Given the description of an element on the screen output the (x, y) to click on. 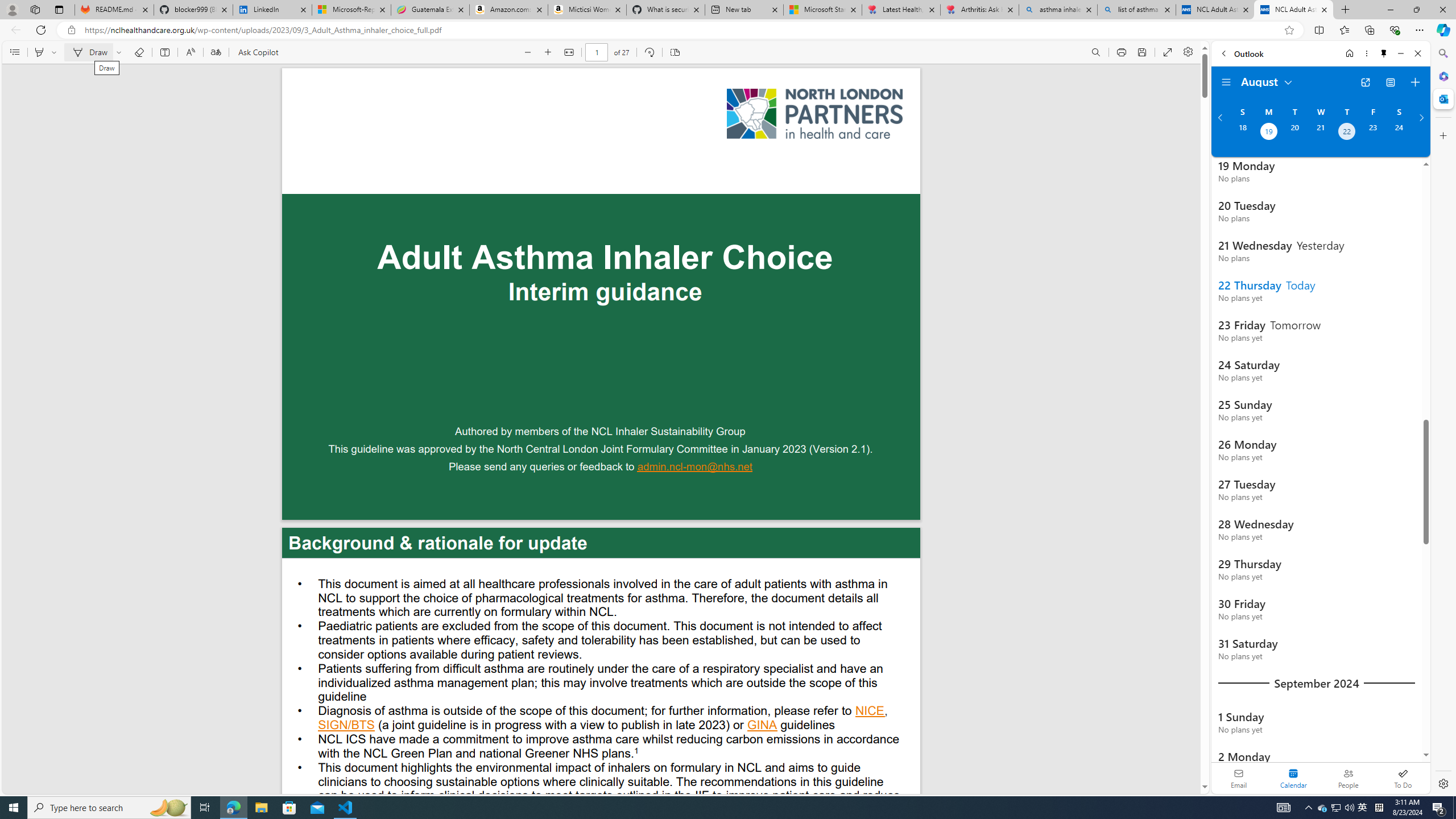
Thursday, August 22, 2024. Today.  (1346, 132)
admin.ncl-mon@nhs.net (694, 467)
To Do (1402, 777)
GINA  (761, 726)
